Given the description of an element on the screen output the (x, y) to click on. 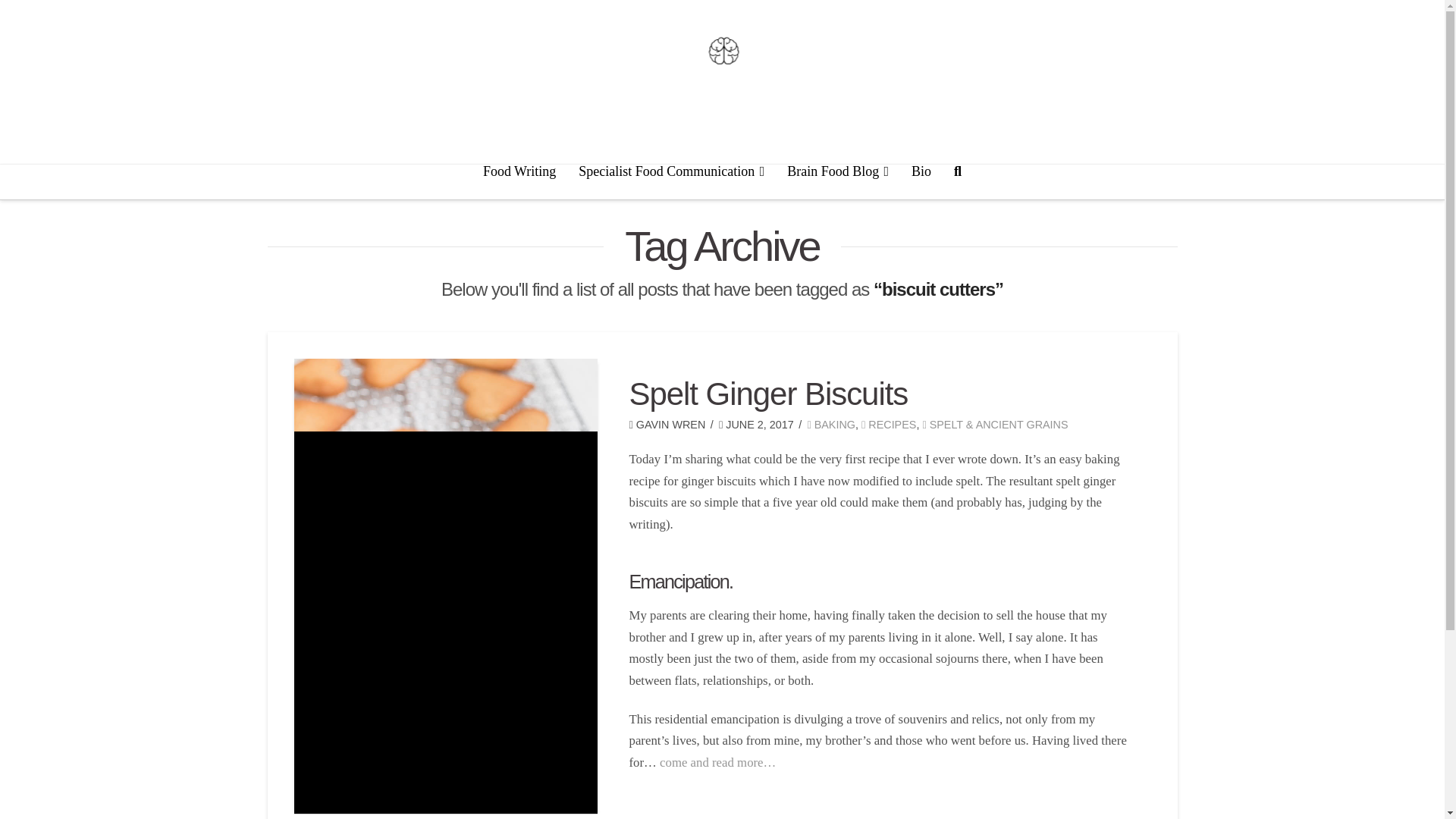
Brain Food Blog (837, 181)
Permalink to: "Spelt Ginger Biscuits" (768, 393)
Specialist Food Communication (671, 181)
Food Writing (519, 181)
Bio (920, 181)
